Given the description of an element on the screen output the (x, y) to click on. 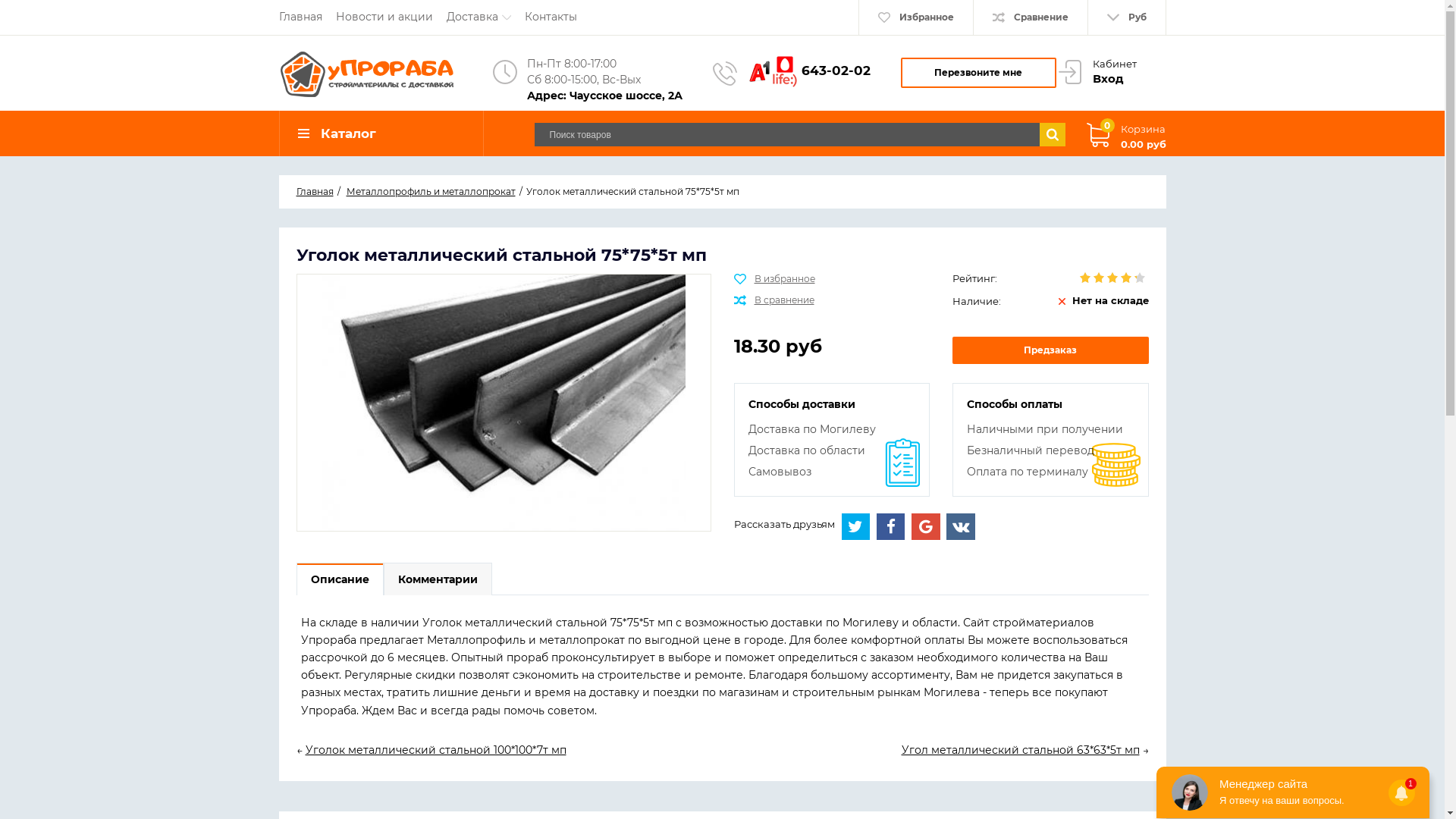
643-02-02 Element type: text (834, 70)
